Given the description of an element on the screen output the (x, y) to click on. 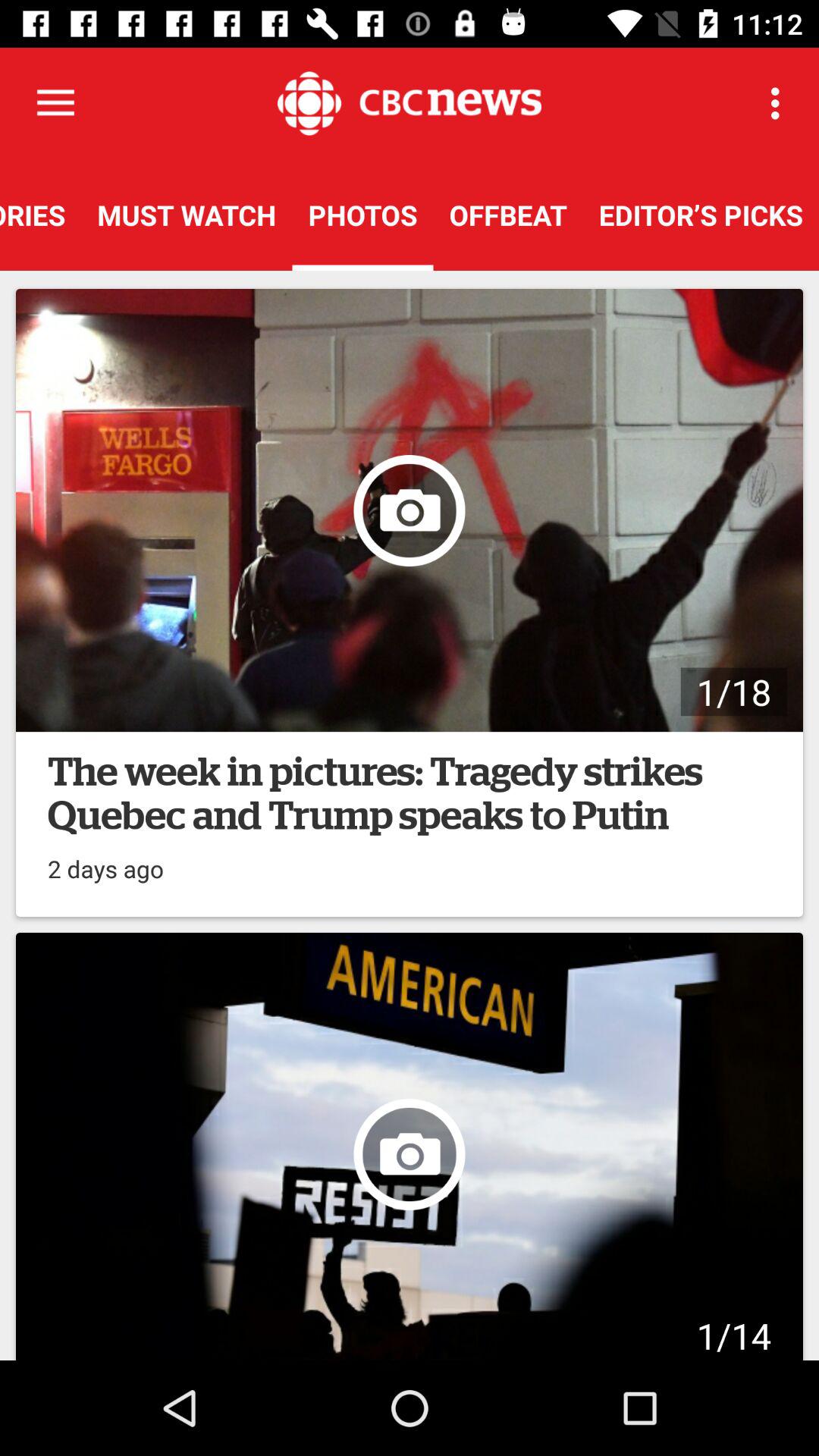
choose the item next to the must watch icon (362, 214)
